Given the description of an element on the screen output the (x, y) to click on. 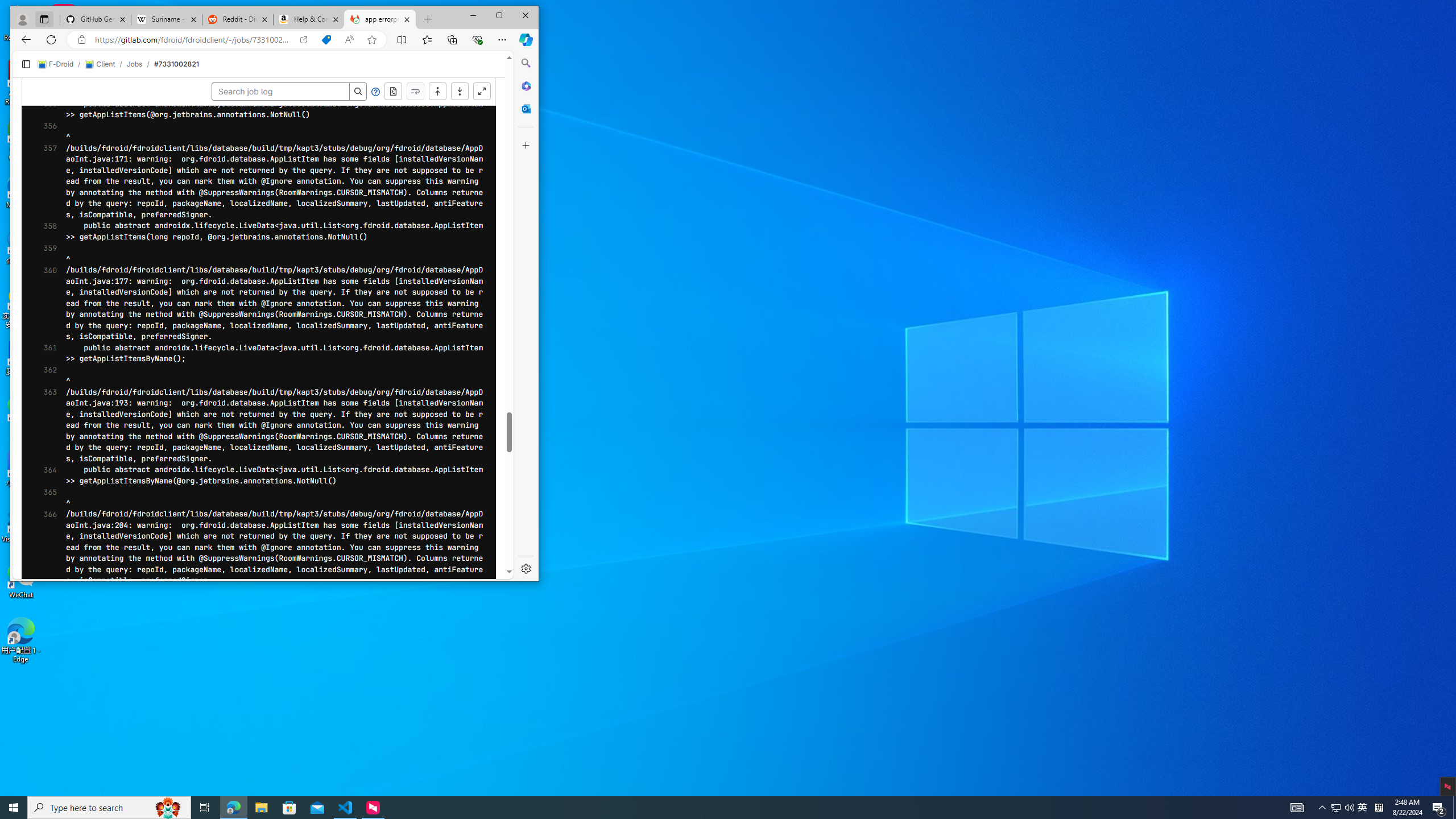
Scroll to next failure (414, 91)
Primary navigation sidebar (25, 63)
#7331002821 (175, 63)
Jobs (134, 63)
GitHub General Privacy Statement - GitHub Docs (95, 19)
